Given the description of an element on the screen output the (x, y) to click on. 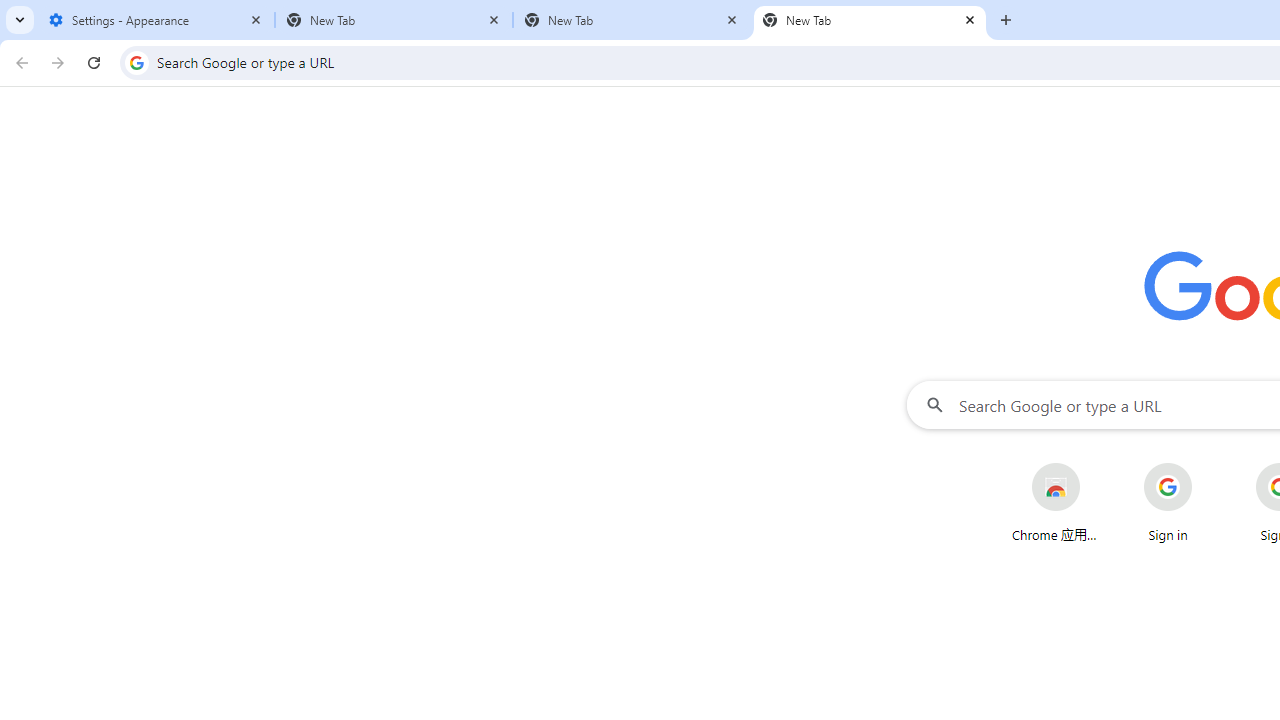
Settings - Appearance (156, 20)
New Tab (870, 20)
More actions for Sign in shortcut (1208, 464)
New Tab (632, 20)
New Tab (394, 20)
